Given the description of an element on the screen output the (x, y) to click on. 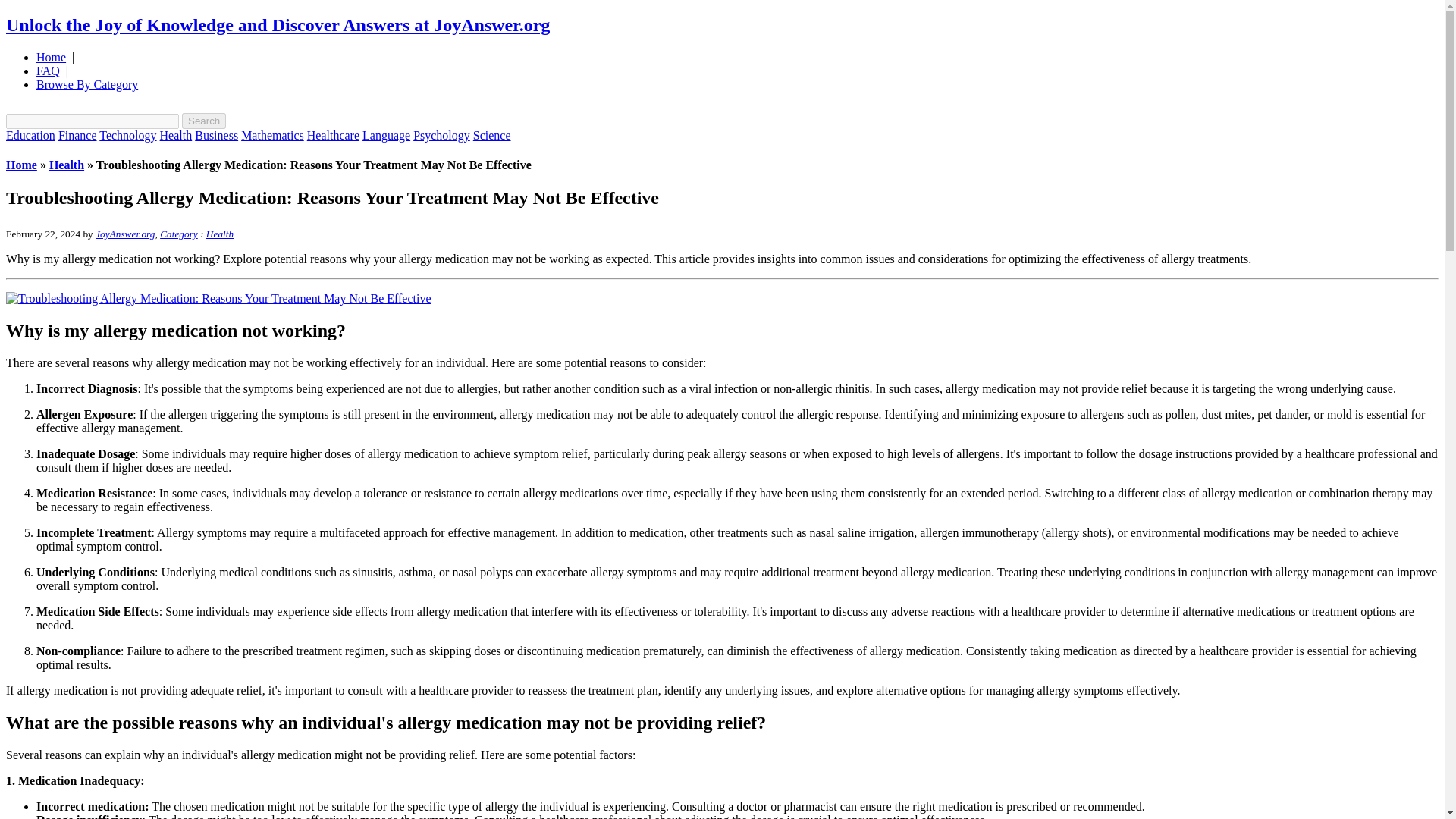
Finance (77, 134)
Health (176, 134)
FAQ (47, 70)
Mathematics (272, 134)
Home (50, 56)
Browse By Category (87, 83)
Health (219, 233)
Home (21, 164)
Psychology (441, 134)
Health (66, 164)
Technology (127, 134)
JoyAnswer.org (125, 233)
Education (30, 134)
Business (216, 134)
Category (179, 233)
